Given the description of an element on the screen output the (x, y) to click on. 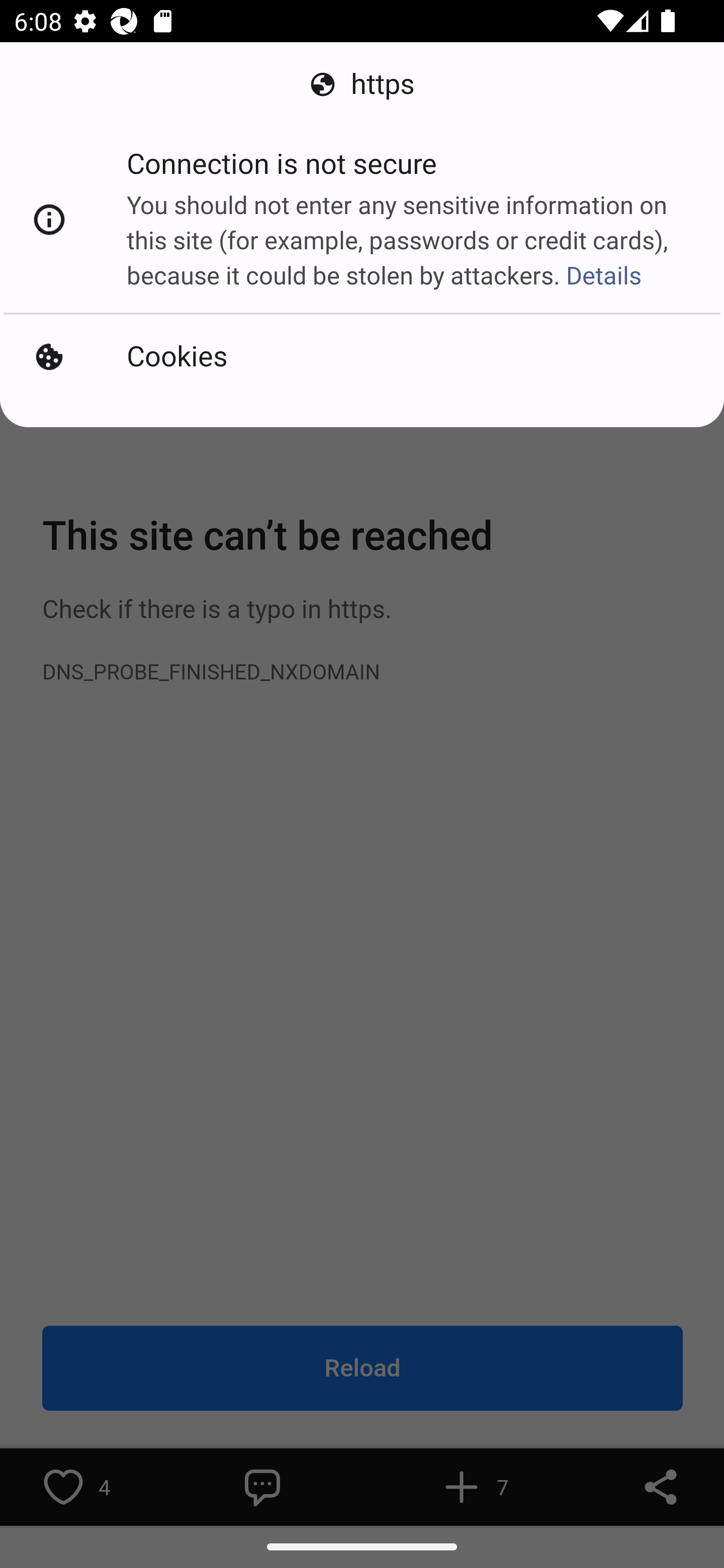
https (362, 84)
Cookies (362, 356)
